Given the description of an element on the screen output the (x, y) to click on. 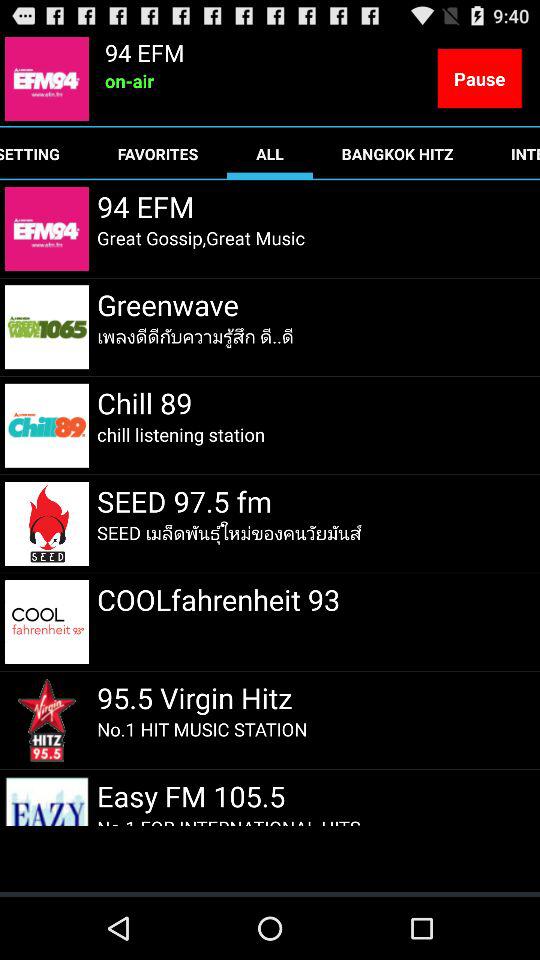
click the item above the greenwave icon (201, 237)
